Given the description of an element on the screen output the (x, y) to click on. 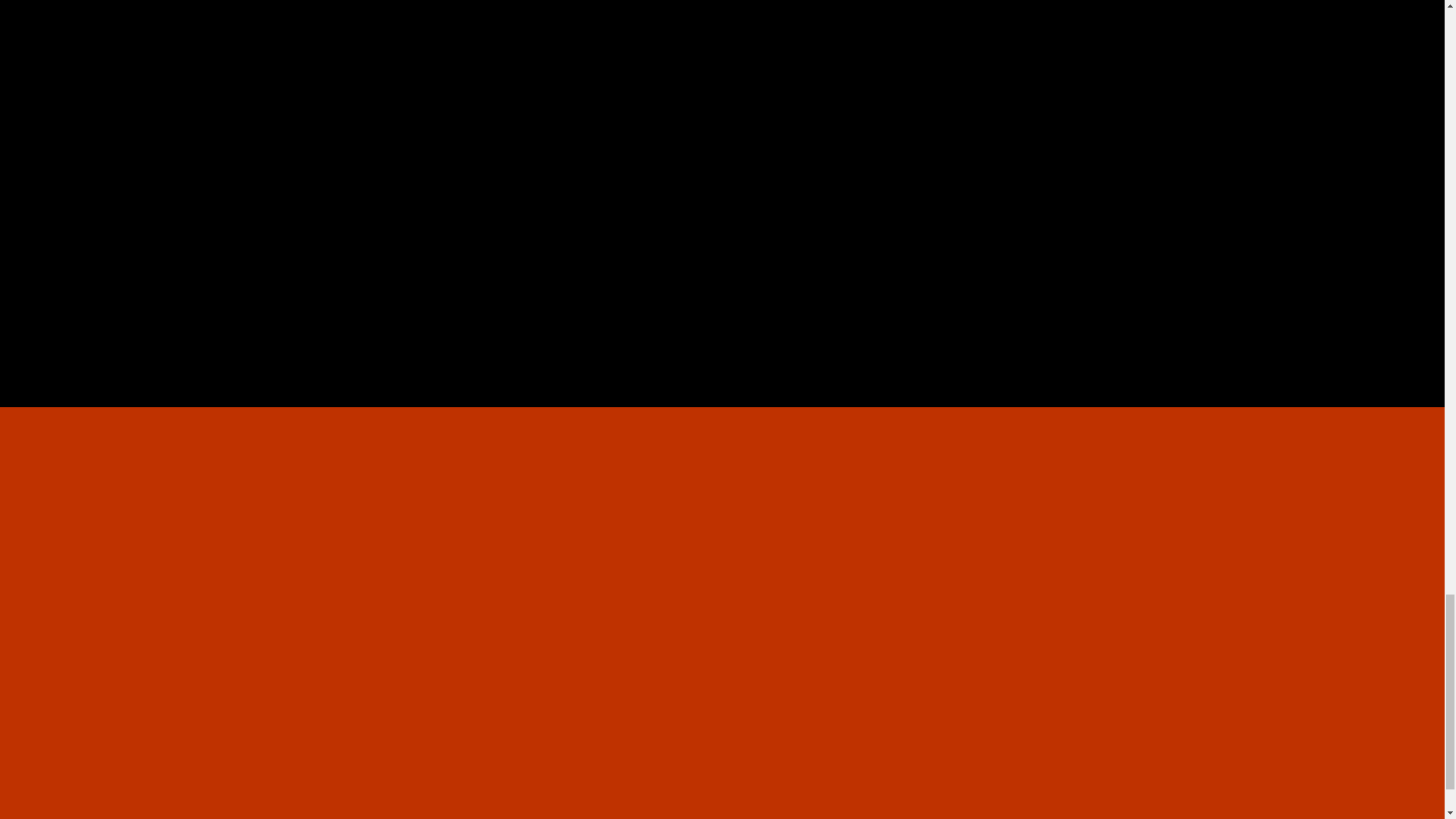
SUBMIT MESSAGE (978, 279)
